Given the description of an element on the screen output the (x, y) to click on. 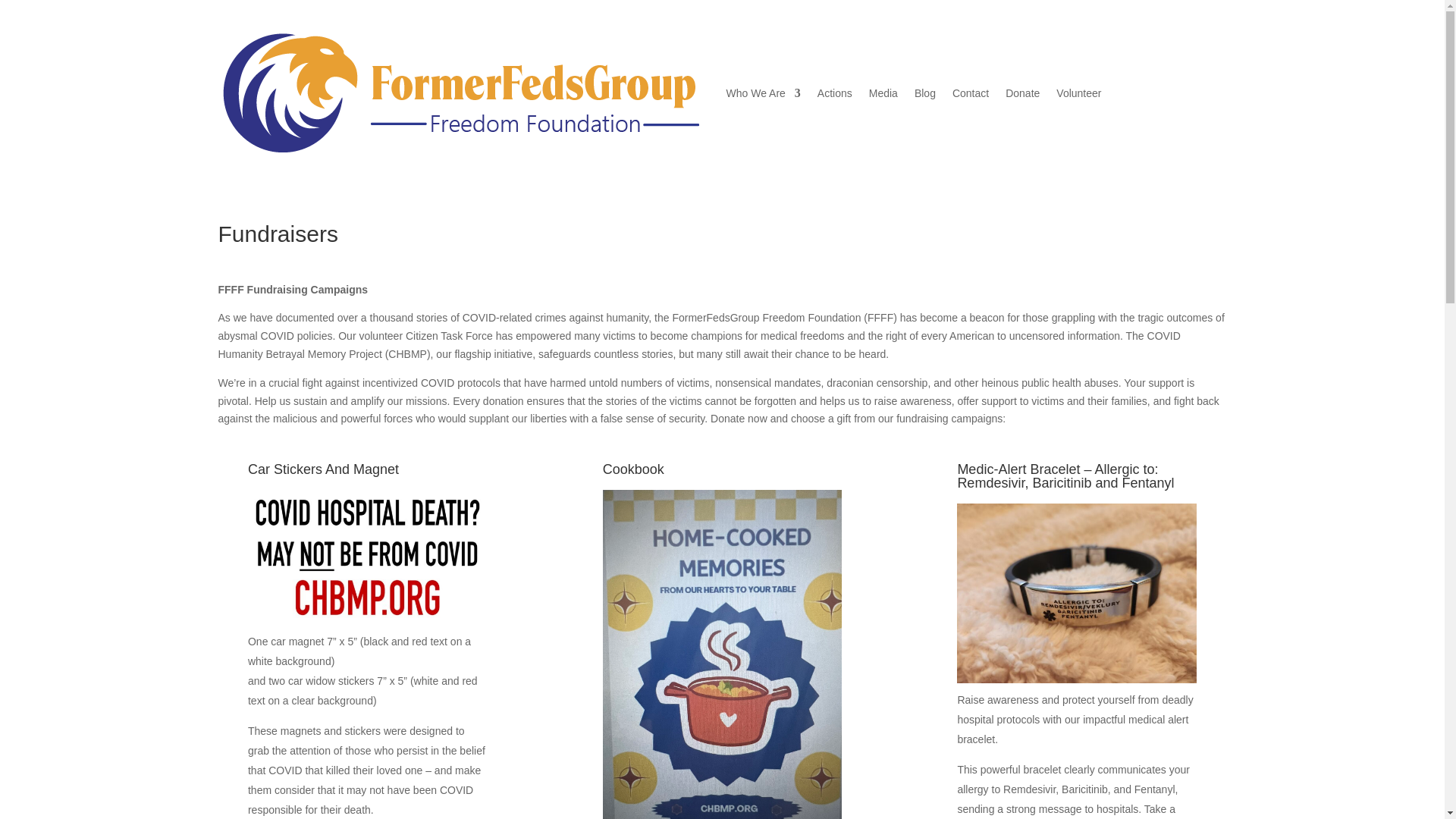
Car Stickers And Magnet (367, 473)
Fundraisers (722, 237)
Cookbook (722, 473)
